Given the description of an element on the screen output the (x, y) to click on. 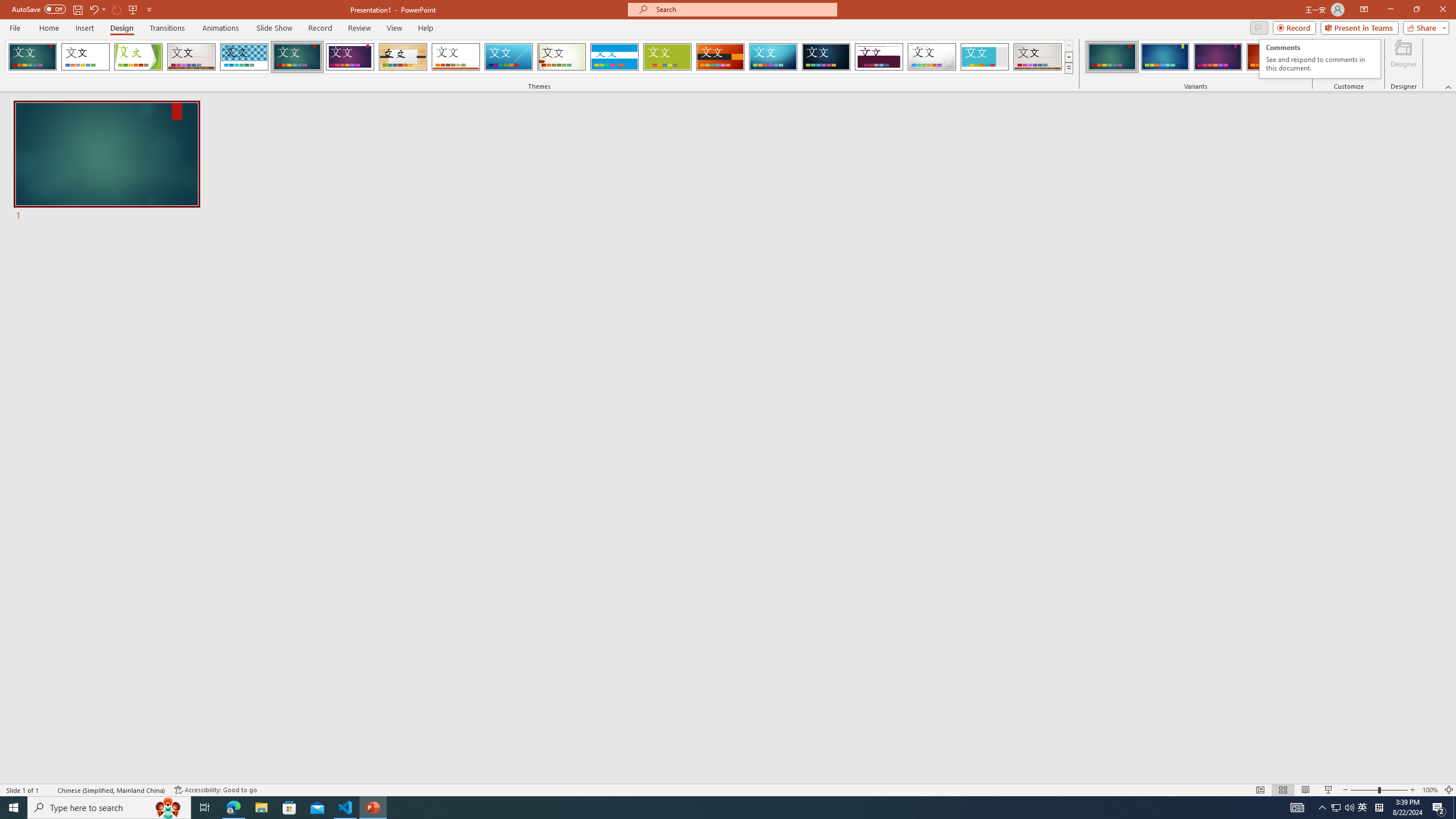
Ion Loading Preview... (1319, 58)
Themes (296, 56)
Frame Loading Preview... (1068, 67)
Basis Loading Preview... (984, 56)
